Given the description of an element on the screen output the (x, y) to click on. 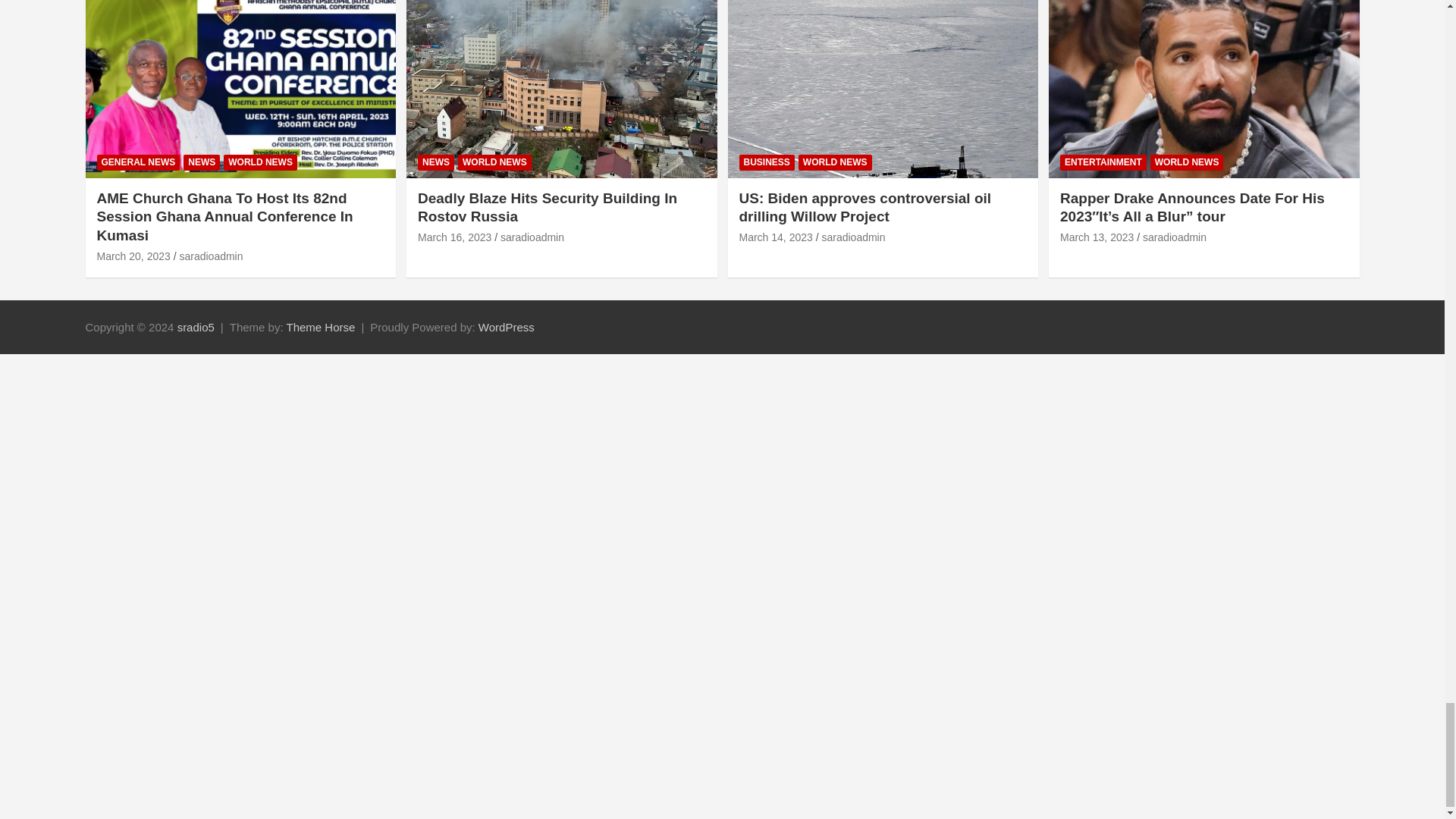
GENERAL NEWS (138, 162)
US: Biden approves controversial oil drilling Willow Project (775, 236)
Deadly Blaze Hits Security Building In Rostov Russia (454, 236)
NEWS (201, 162)
